Given the description of an element on the screen output the (x, y) to click on. 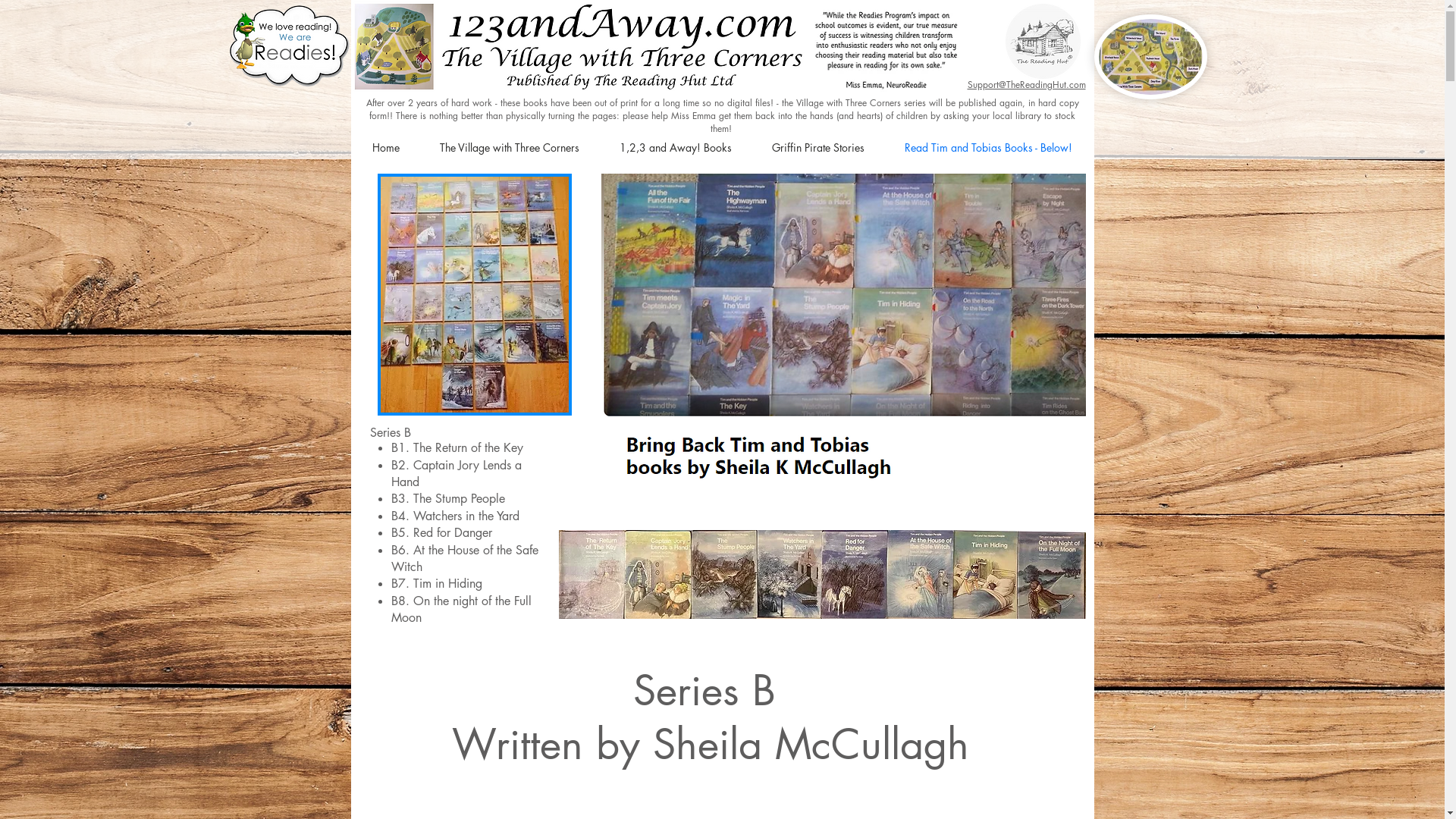
1,2,3 and Away! Books Element type: text (675, 147)
Griffin Pirate Stories Element type: text (818, 147)
The Village wih Three Corners Element type: hover (1149, 56)
The Village with Three Corners Element type: text (509, 147)
Home Element type: text (385, 147)
Read Tim and Tobias Books - Below! Element type: text (987, 147)
Support@TheReadingHut.com Element type: text (1026, 84)
